Given the description of an element on the screen output the (x, y) to click on. 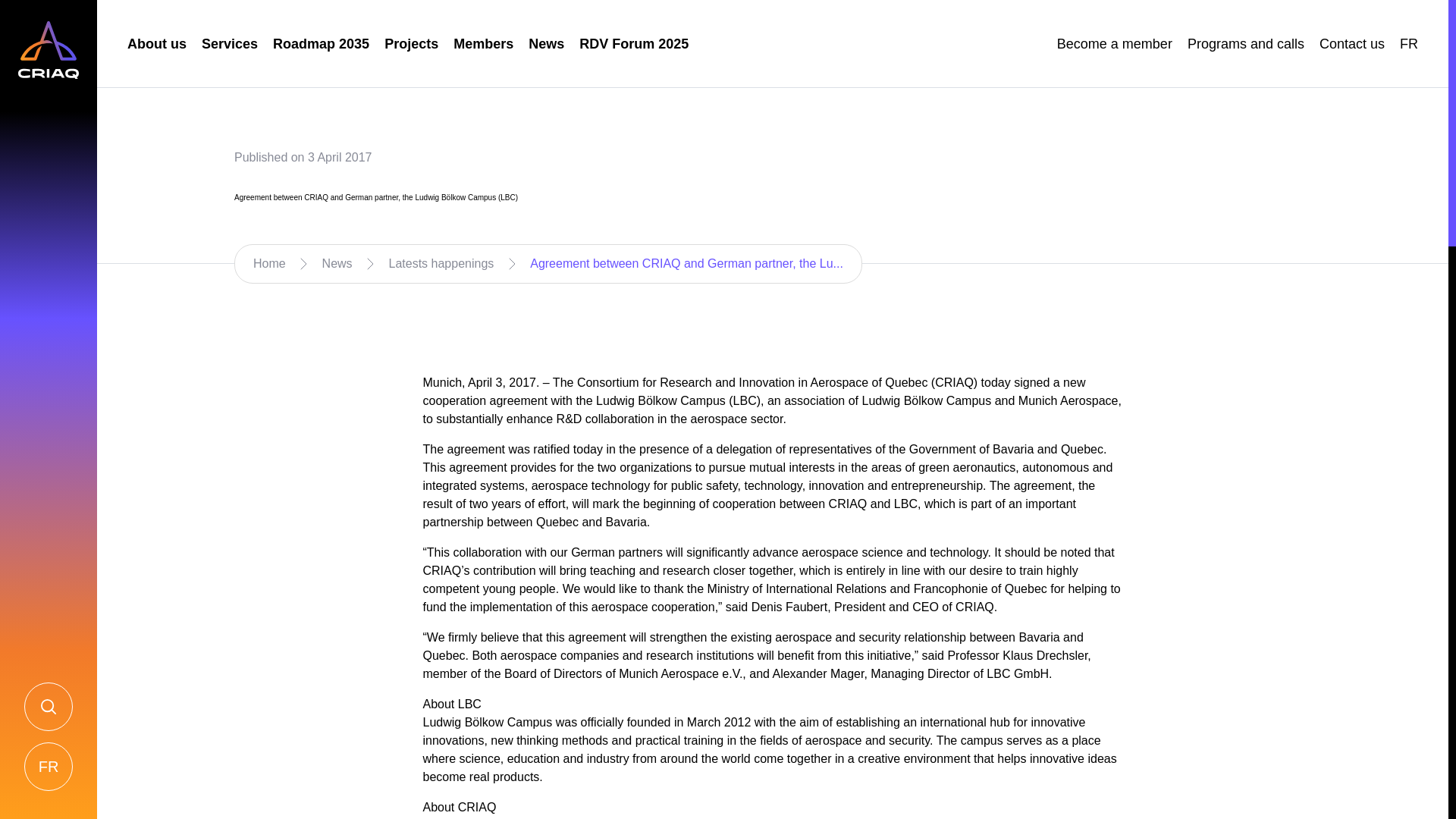
Become a member (1114, 44)
FR (1408, 44)
FR (1408, 44)
Roadmap 2035 (321, 44)
RDV Forum 2025 (633, 44)
Contact us (1351, 44)
Programs and calls (1246, 43)
